Given the description of an element on the screen output the (x, y) to click on. 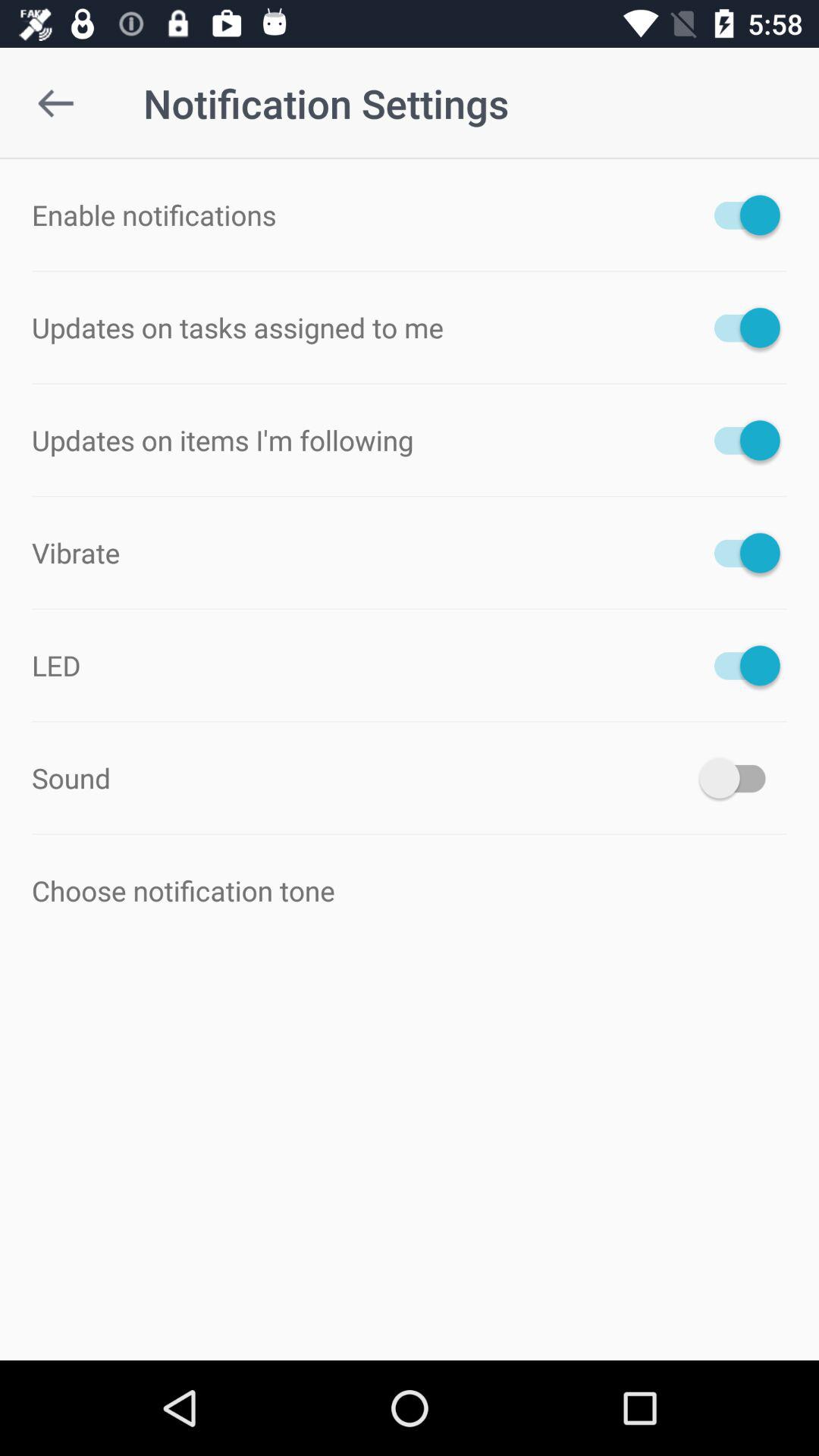
open item to the right of the vibrate item (739, 552)
